Given the description of an element on the screen output the (x, y) to click on. 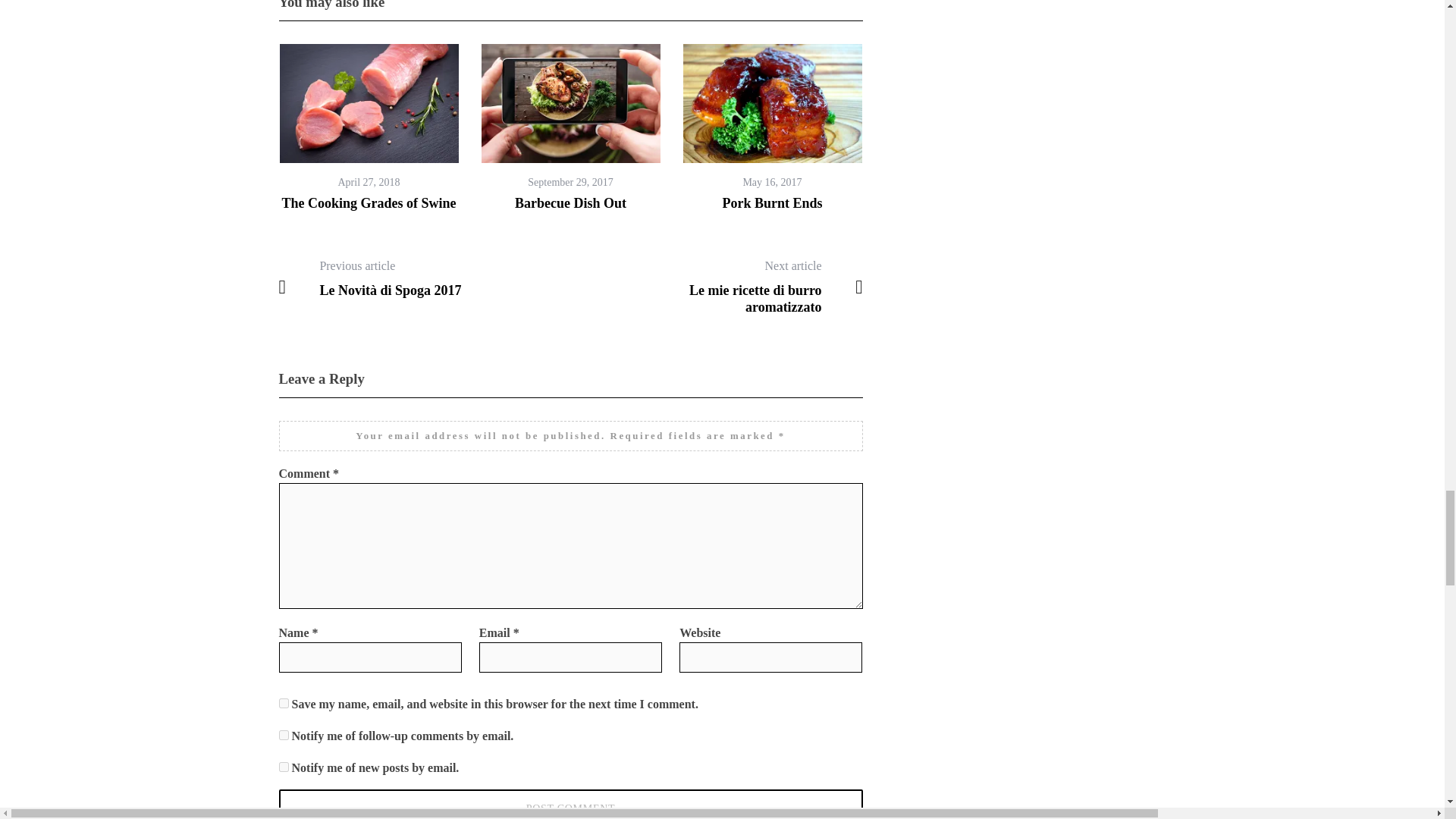
Post Comment (571, 804)
yes (283, 703)
subscribe (283, 767)
subscribe (283, 735)
